Given the description of an element on the screen output the (x, y) to click on. 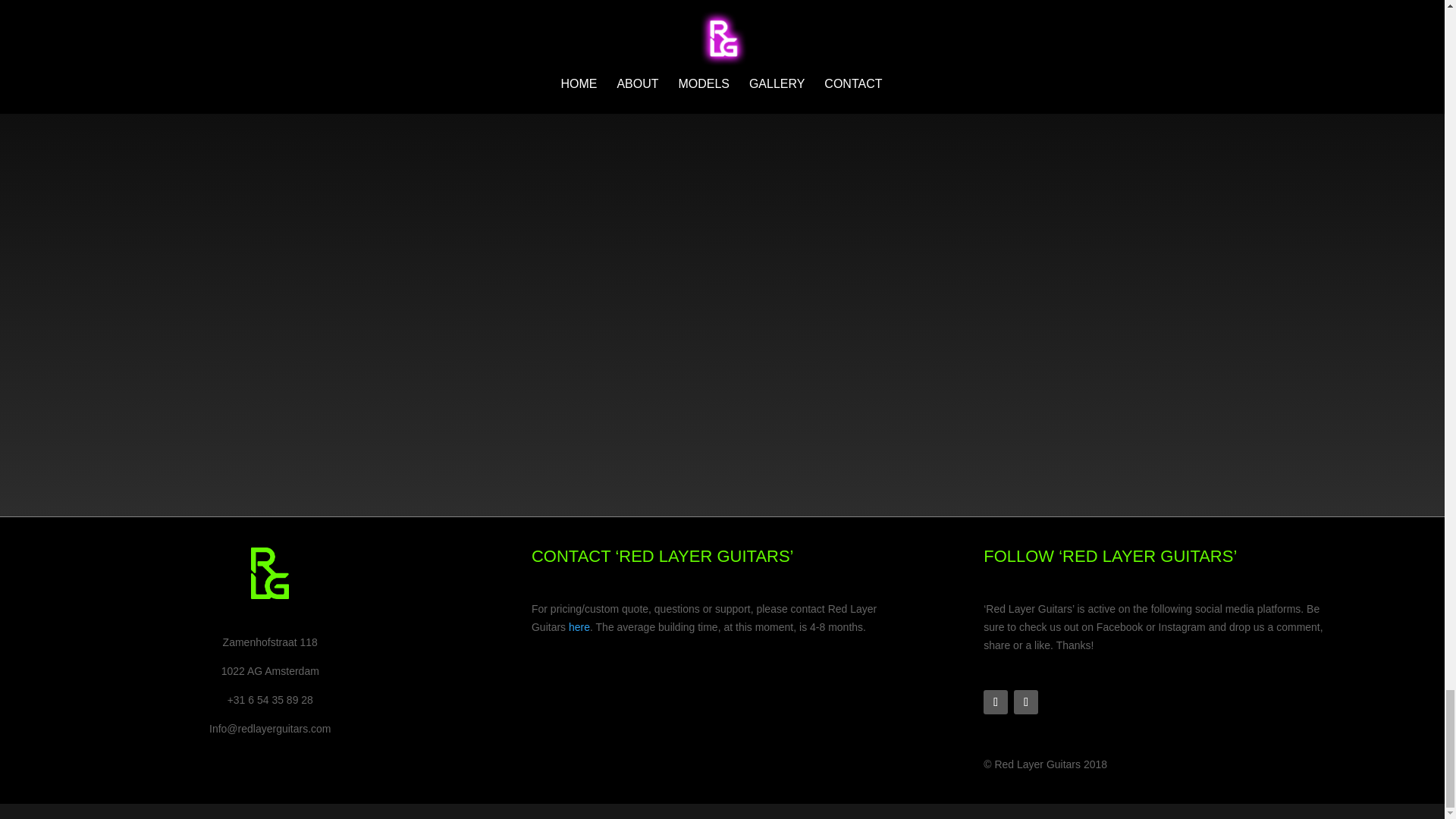
Follow on  (1055, 702)
here (579, 626)
Follow on Instagram (1025, 702)
Follow on Facebook (995, 702)
